Given the description of an element on the screen output the (x, y) to click on. 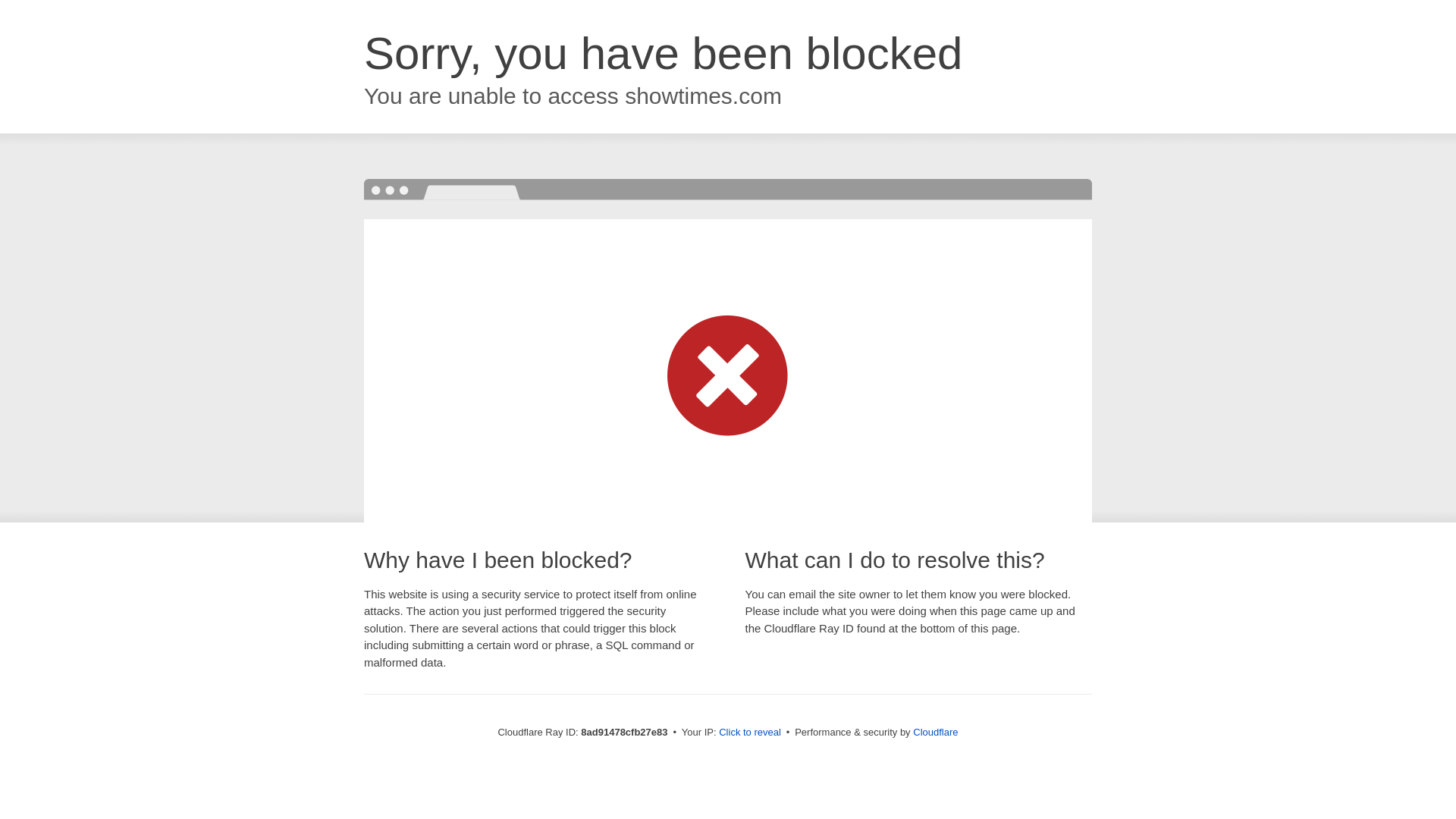
Click to reveal (749, 732)
Cloudflare (935, 731)
